Given the description of an element on the screen output the (x, y) to click on. 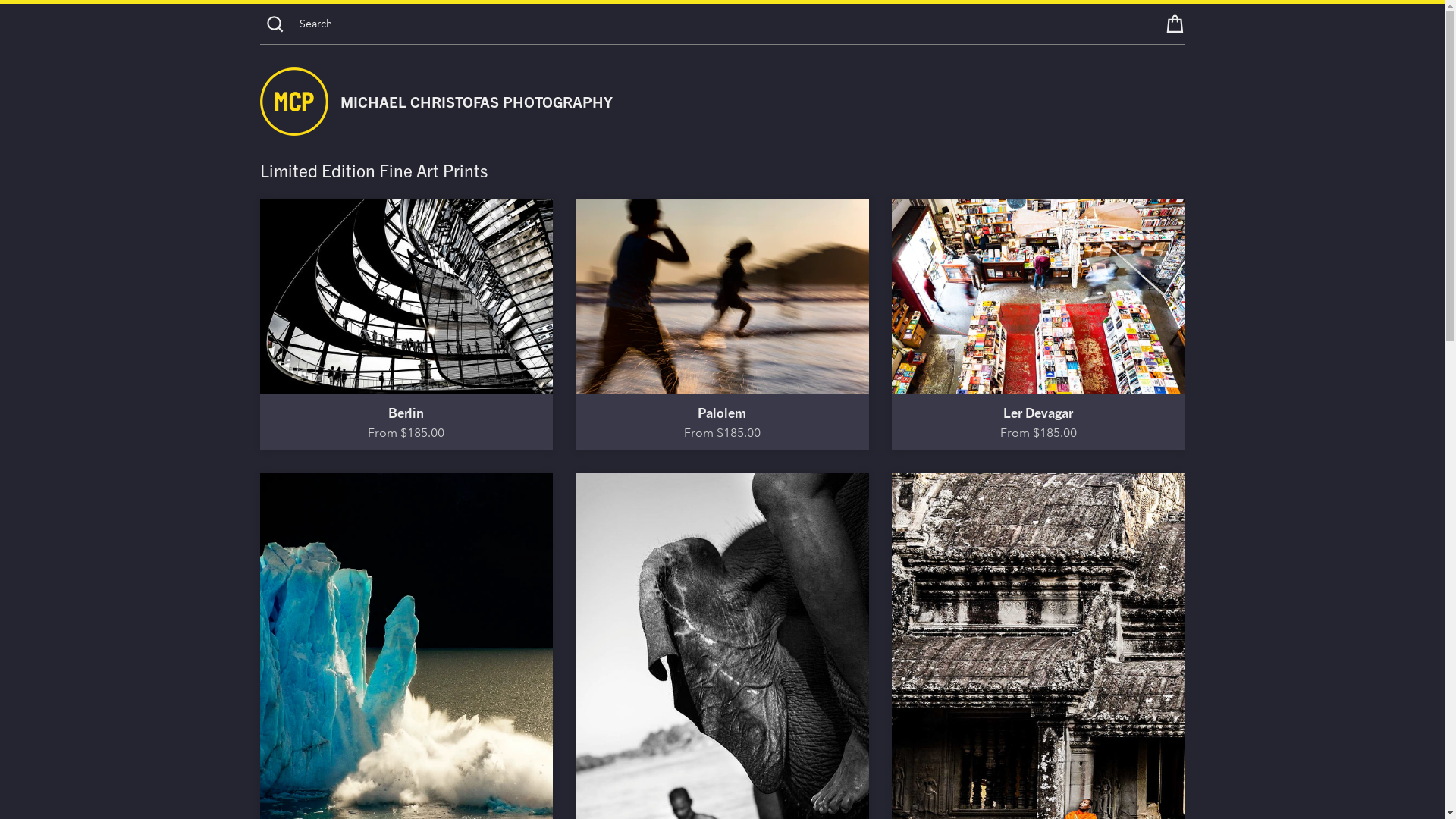
Berlin Element type: text (405, 411)
MICHAEL CHRISTOFAS PHOTOGRAPHY Element type: text (475, 100)
Berlin Element type: hover (405, 296)
Ler Devagar Element type: text (1038, 411)
Palolem Element type: text (721, 411)
Search Element type: text (274, 23)
Ler Devagar Element type: hover (1038, 296)
Palolem Element type: hover (722, 296)
